Given the description of an element on the screen output the (x, y) to click on. 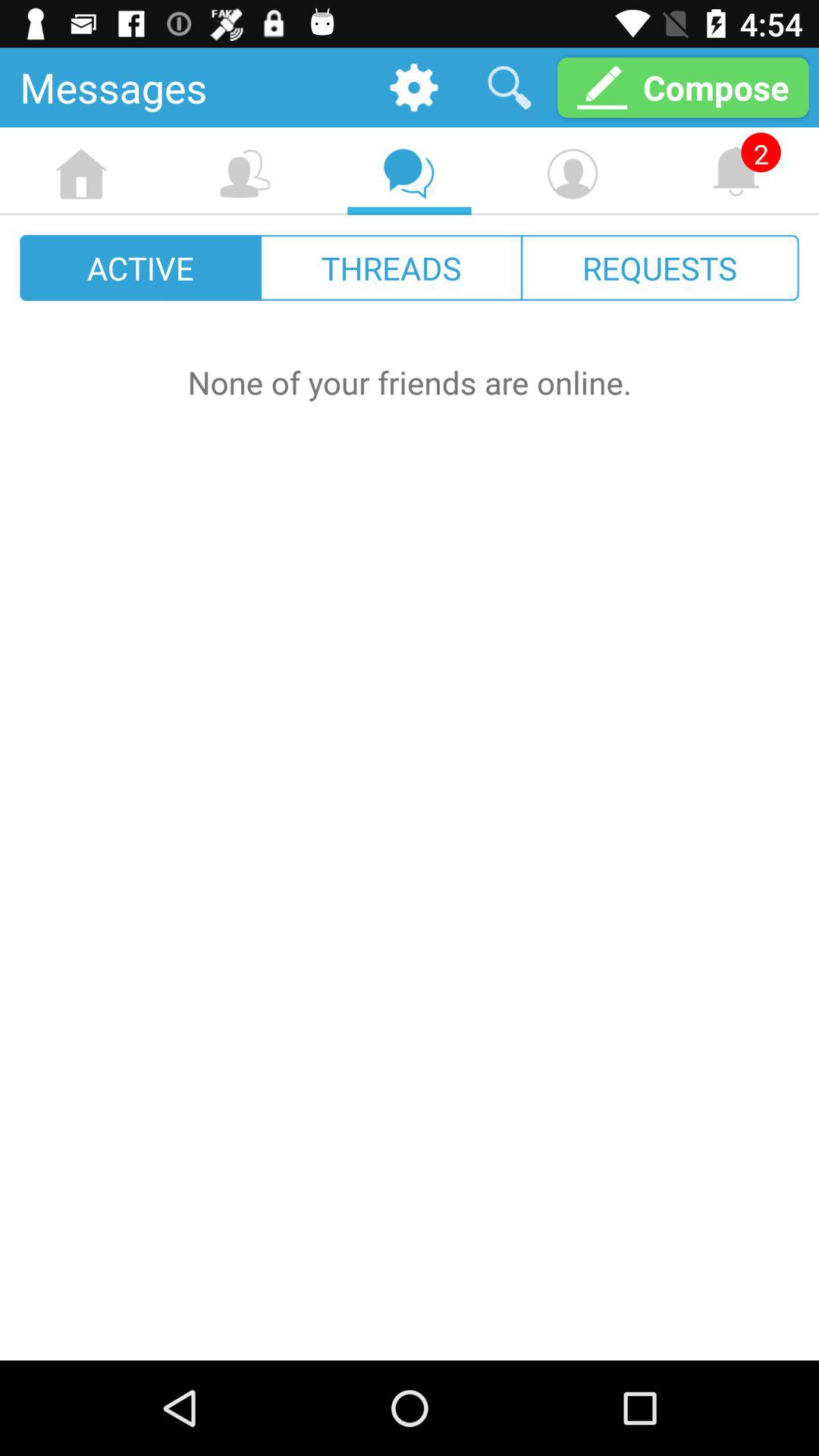
turn off the icon next to the threads icon (140, 267)
